Given the description of an element on the screen output the (x, y) to click on. 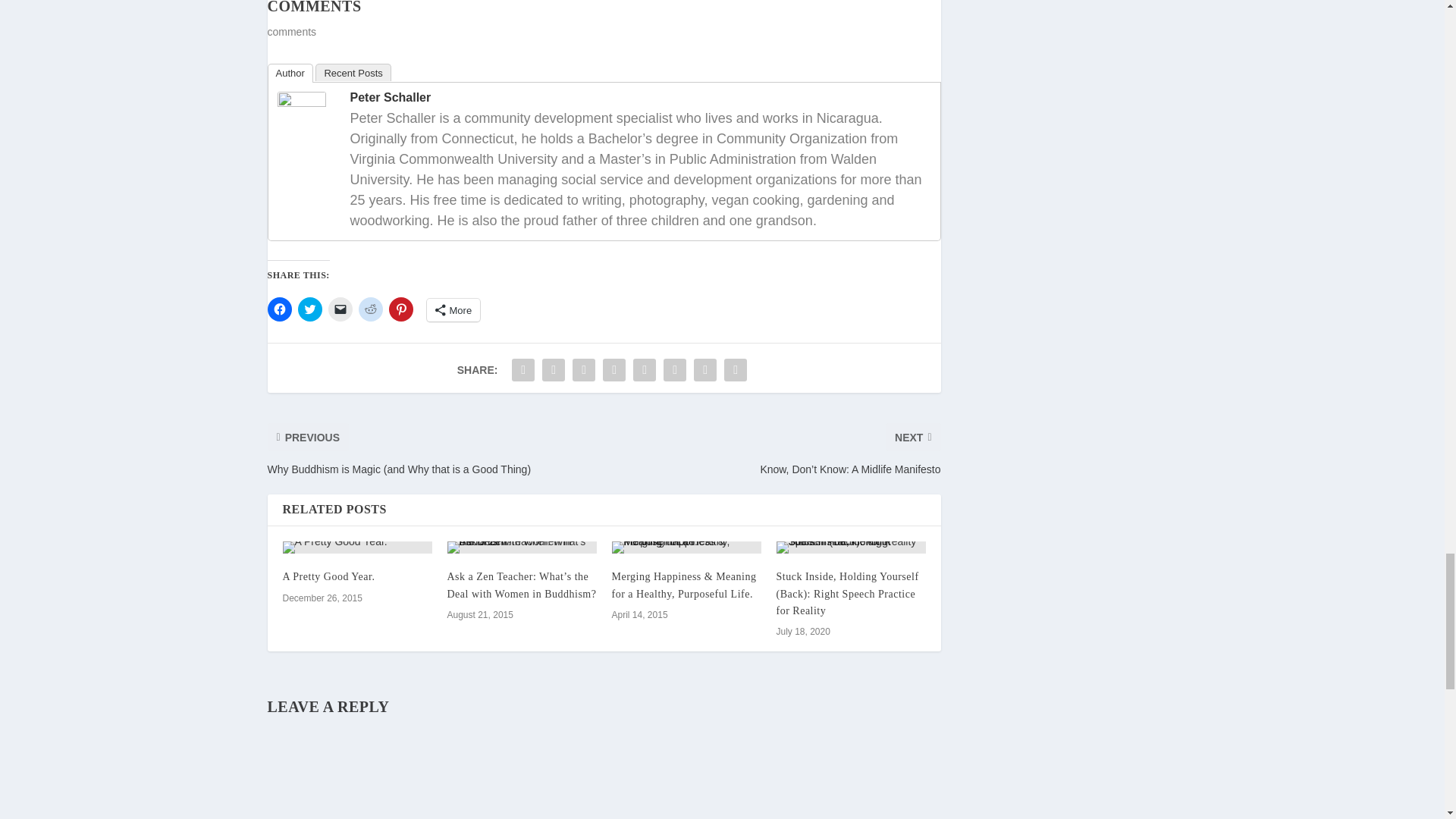
Share "The Challenge in the Fortune" via Twitter (553, 369)
Share "The Challenge in the Fortune" via Facebook (523, 369)
Click to share on Pinterest (400, 309)
Click to share on Twitter (309, 309)
Click to share on Facebook (278, 309)
Share "The Challenge in the Fortune" via LinkedIn (674, 369)
Click to share on Reddit (369, 309)
Peter Schaller (302, 102)
Click to email a link to a friend (339, 309)
Share "The Challenge in the Fortune" via Pinterest (643, 369)
Share "The Challenge in the Fortune" via Tumblr (613, 369)
